Given the description of an element on the screen output the (x, y) to click on. 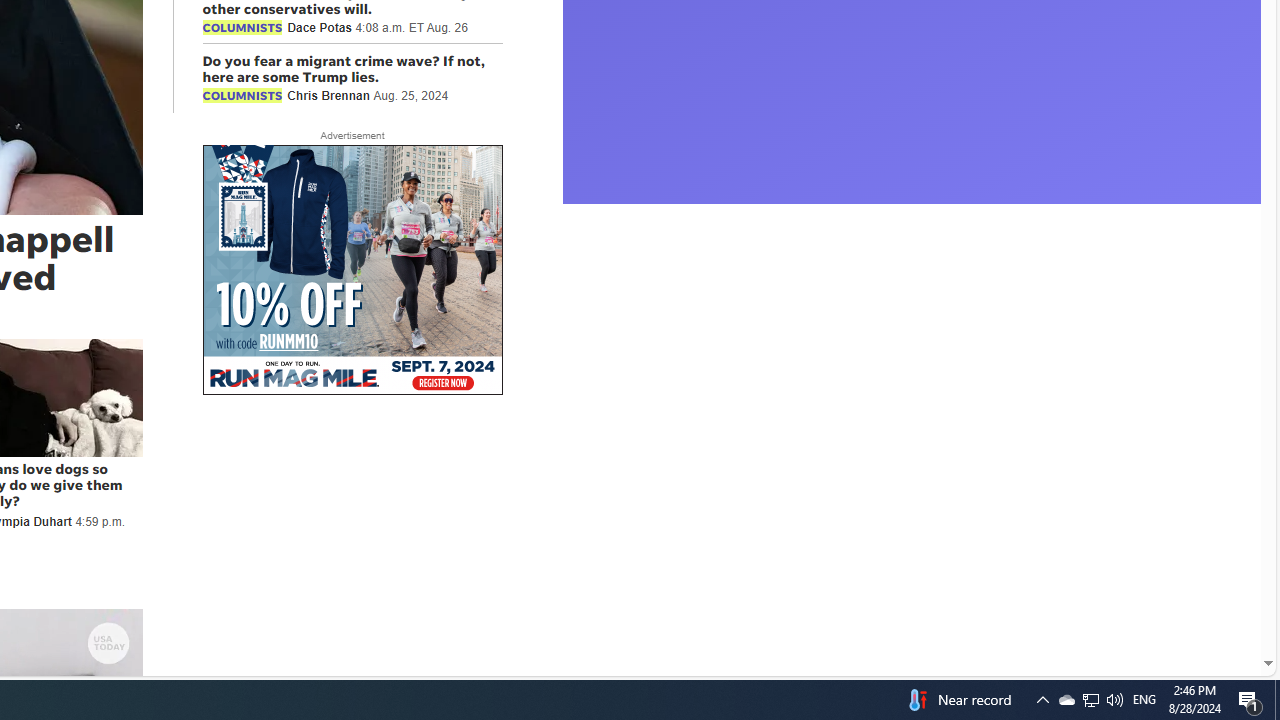
AutomationID: aw0 (352, 271)
